Given the description of an element on the screen output the (x, y) to click on. 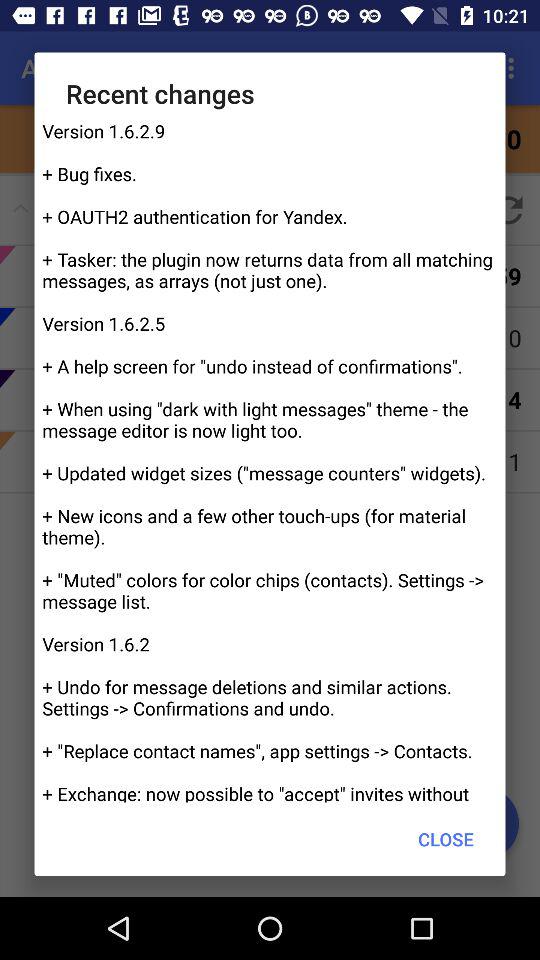
open item at the bottom right corner (445, 838)
